Given the description of an element on the screen output the (x, y) to click on. 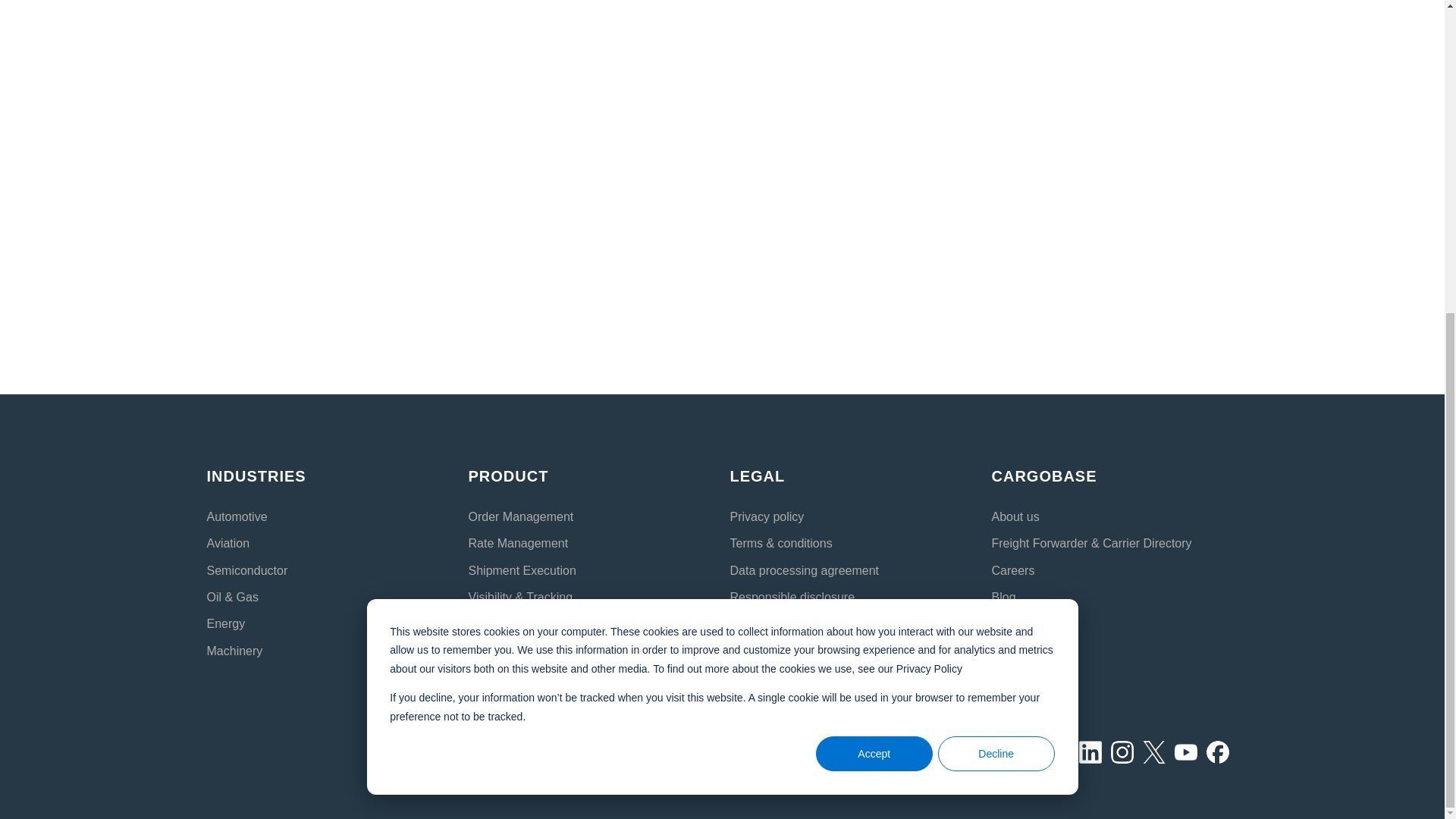
Data processing agreement (804, 570)
Contact us (1020, 650)
Aviation (227, 543)
About us (1015, 516)
Machinery (234, 650)
Shipment Execution (522, 570)
Order Management (520, 516)
For Providers (1027, 623)
Privacy policy (766, 516)
Semiconductor (246, 570)
